Given the description of an element on the screen output the (x, y) to click on. 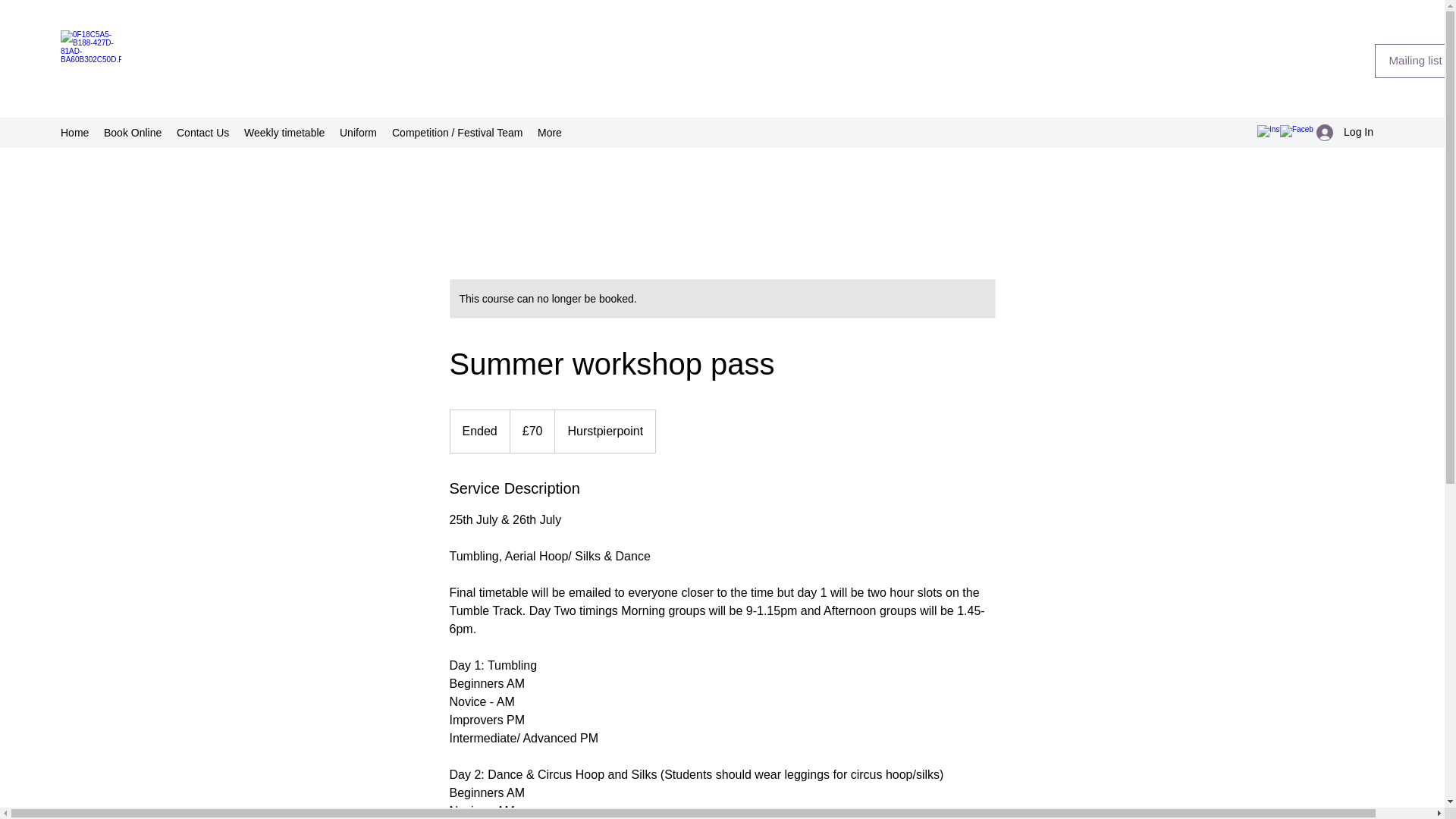
Contact Us (201, 132)
Log In (1345, 131)
Weekly timetable (283, 132)
Uniform (357, 132)
Home (74, 132)
Book Online (132, 132)
